Given the description of an element on the screen output the (x, y) to click on. 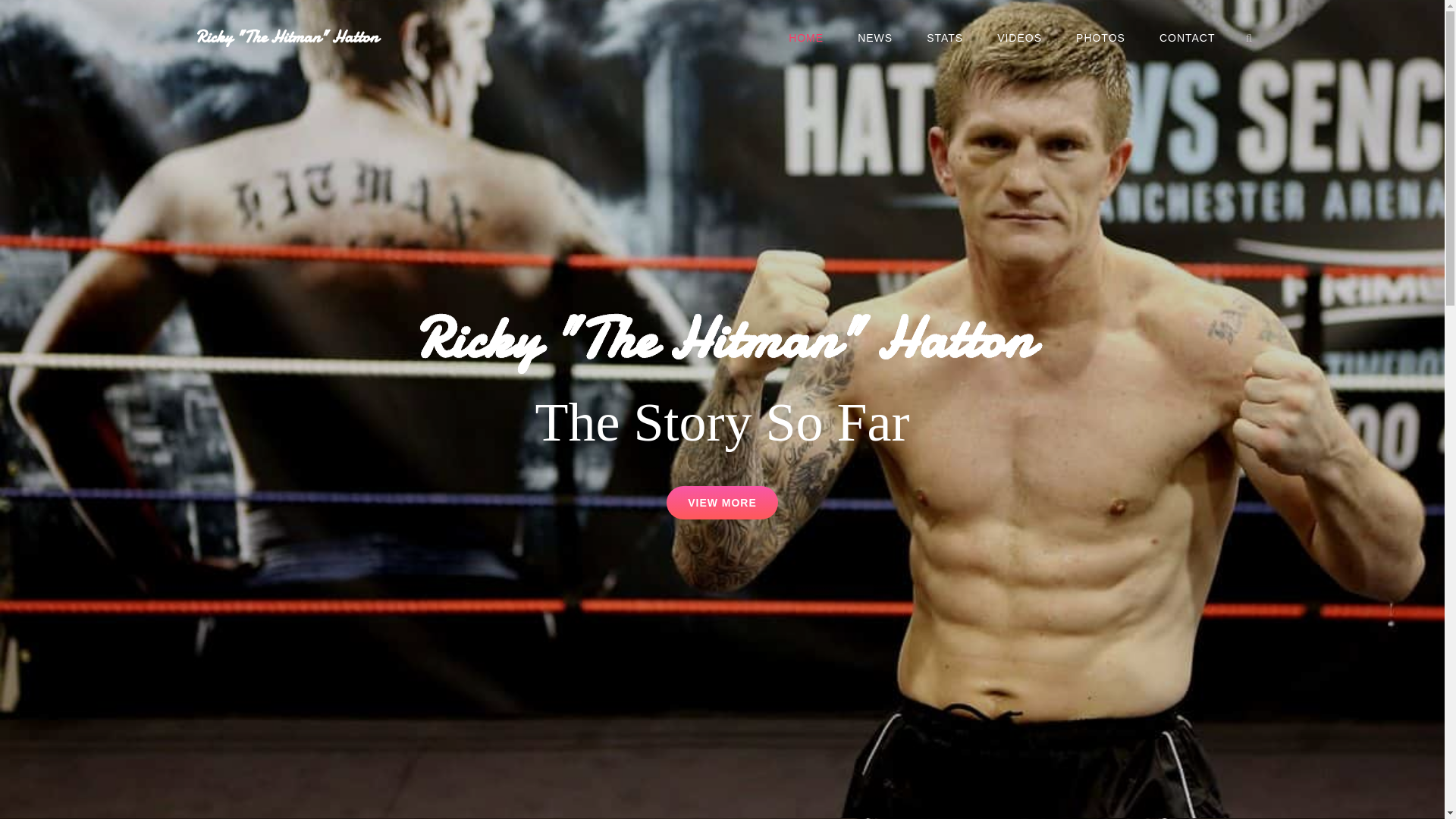
PHOTOS (1100, 37)
HOME (805, 37)
STATS (721, 502)
Ricky Hatton Website (944, 37)
NEWS (508, 52)
SEARCH (875, 37)
VIDEOS (1249, 37)
CONTACT (1019, 37)
